Given the description of an element on the screen output the (x, y) to click on. 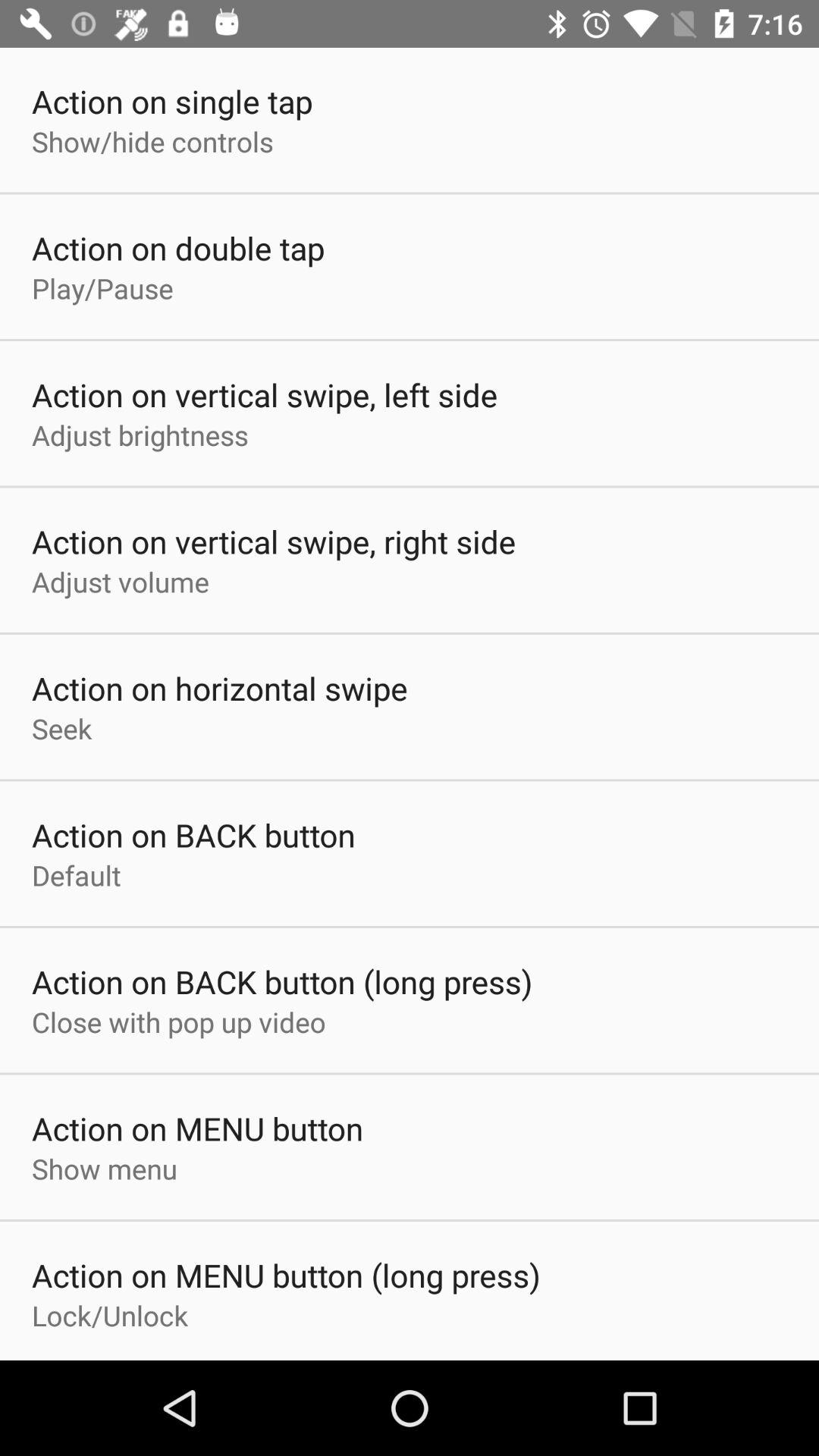
turn off the icon below the action on back icon (178, 1021)
